Given the description of an element on the screen output the (x, y) to click on. 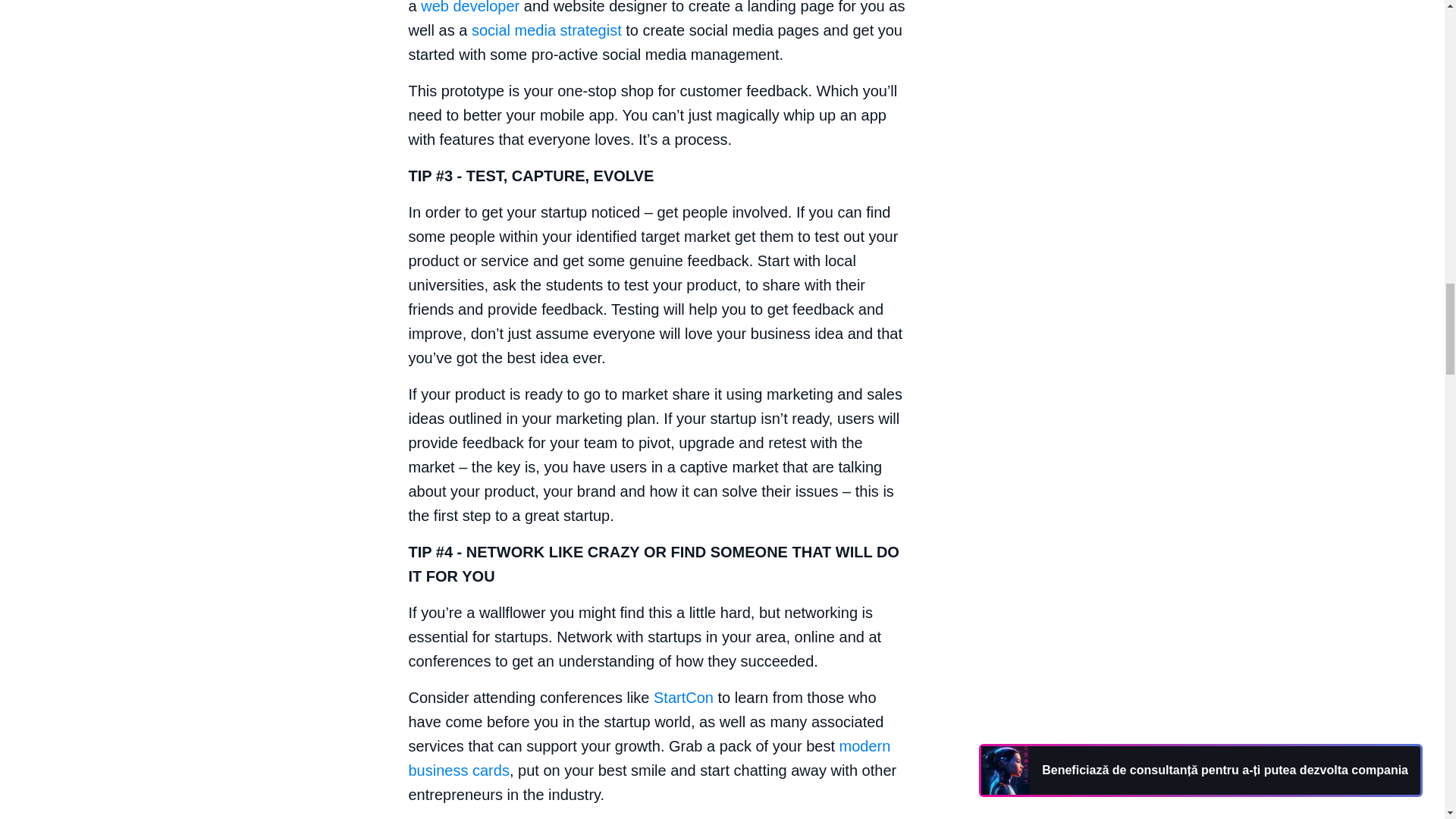
modern business cards (648, 757)
web developer (469, 7)
StartCon (683, 697)
social media strategist (546, 30)
